Given the description of an element on the screen output the (x, y) to click on. 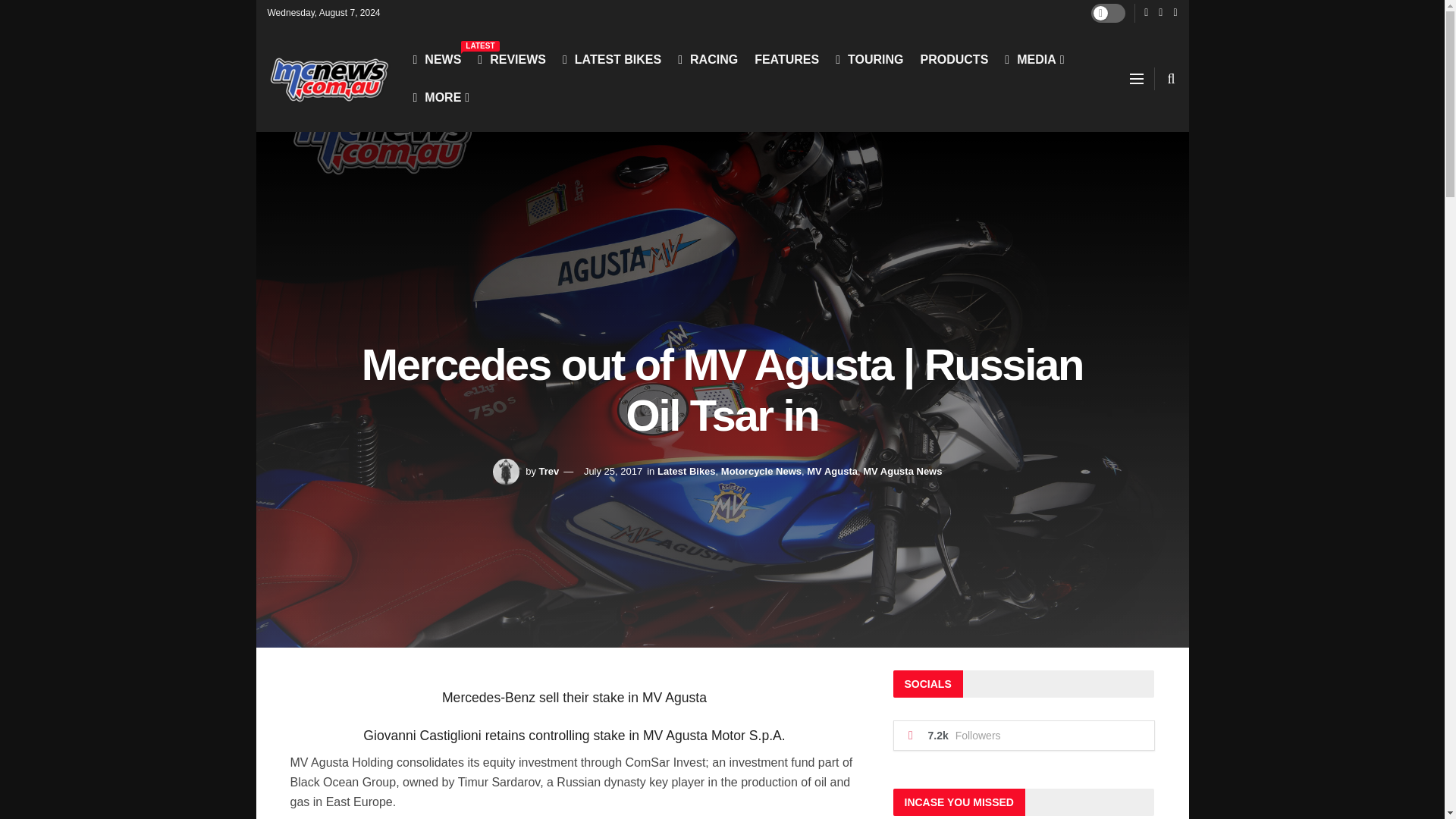
FEATURES (786, 59)
TOURING (868, 59)
PRODUCTS (954, 59)
MORE (439, 97)
MEDIA (1032, 59)
RACING (708, 59)
REVIEWS (511, 59)
LATEST BIKES (611, 59)
